Given the description of an element on the screen output the (x, y) to click on. 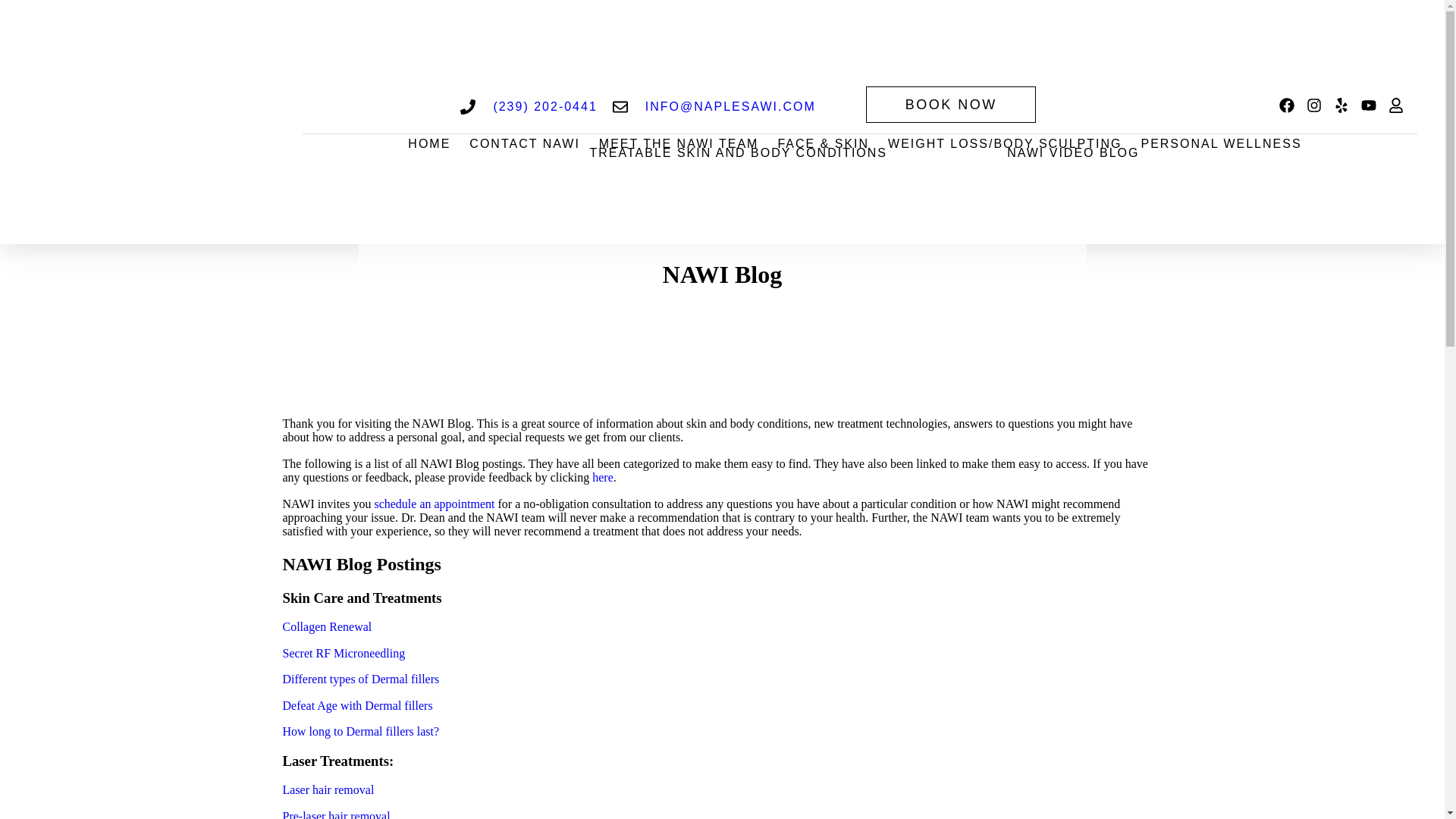
HOME (428, 143)
CONTACT NAWI (523, 143)
BOOK NOW (950, 104)
MEET THE NAWI TEAM (678, 143)
